Given the description of an element on the screen output the (x, y) to click on. 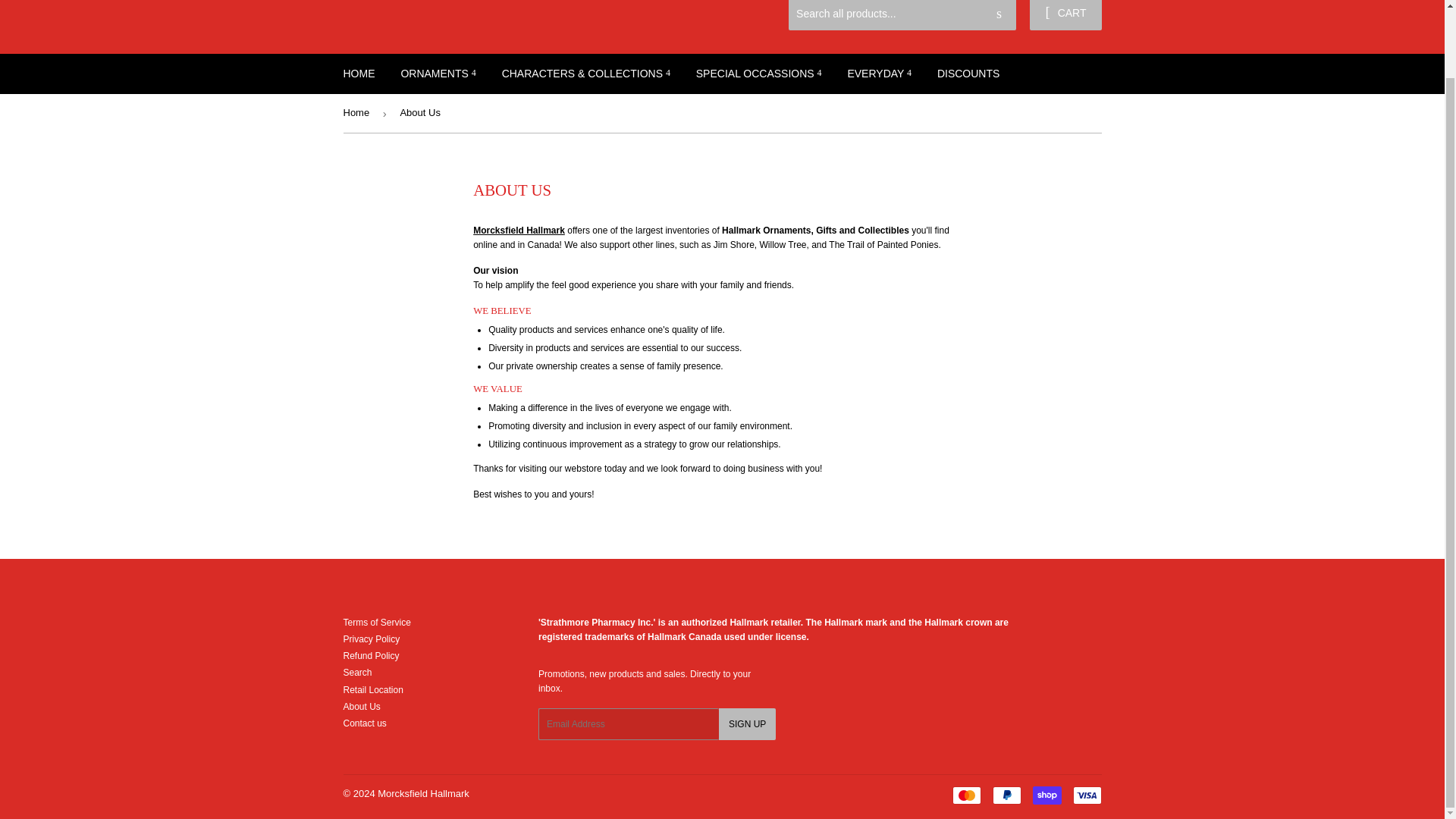
Search (998, 14)
Shop Pay (1046, 795)
CART (1064, 14)
Visa (1085, 795)
Mastercard (966, 795)
PayPal (1005, 795)
